Given the description of an element on the screen output the (x, y) to click on. 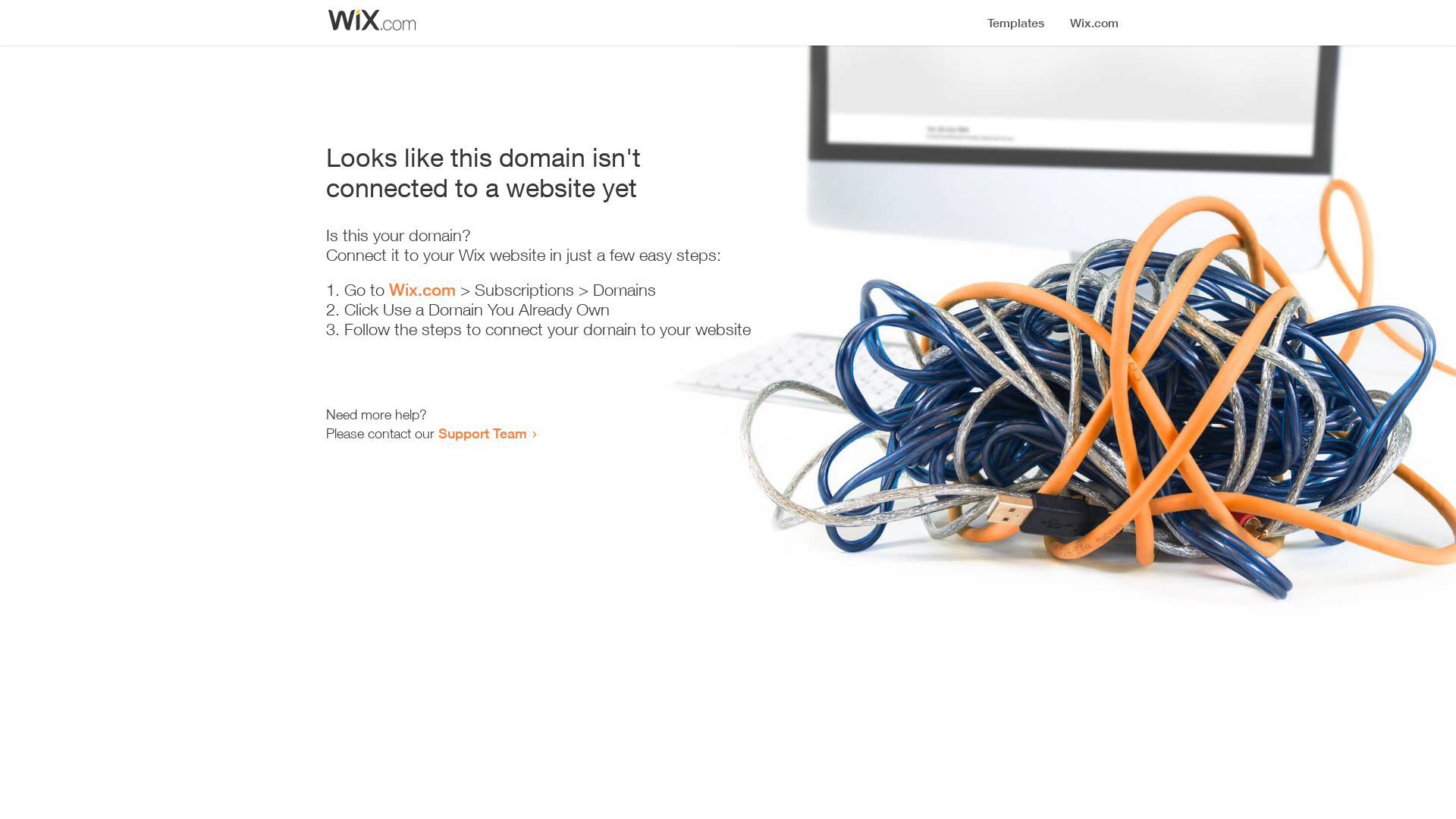
Support Team Element type: text (482, 432)
Wix.com Element type: text (422, 289)
